Given the description of an element on the screen output the (x, y) to click on. 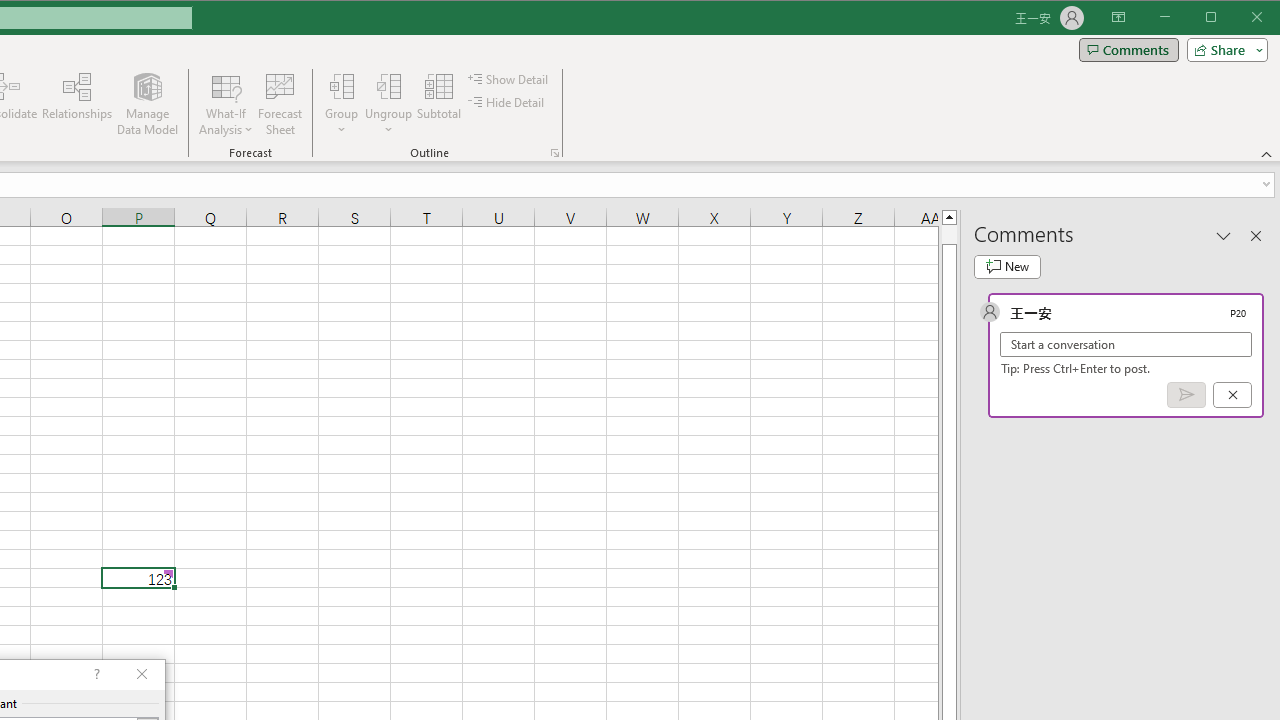
Close pane (1256, 235)
Task Pane Options (1224, 235)
Show Detail (509, 78)
Group... (342, 86)
Group... (342, 104)
Comments (1128, 49)
More Options (388, 123)
Minimize (1217, 18)
Ribbon Display Options (1118, 17)
Relationships (77, 104)
Close (1261, 18)
Collapse the Ribbon (1267, 154)
New comment (1007, 266)
Share (1223, 49)
